Given the description of an element on the screen output the (x, y) to click on. 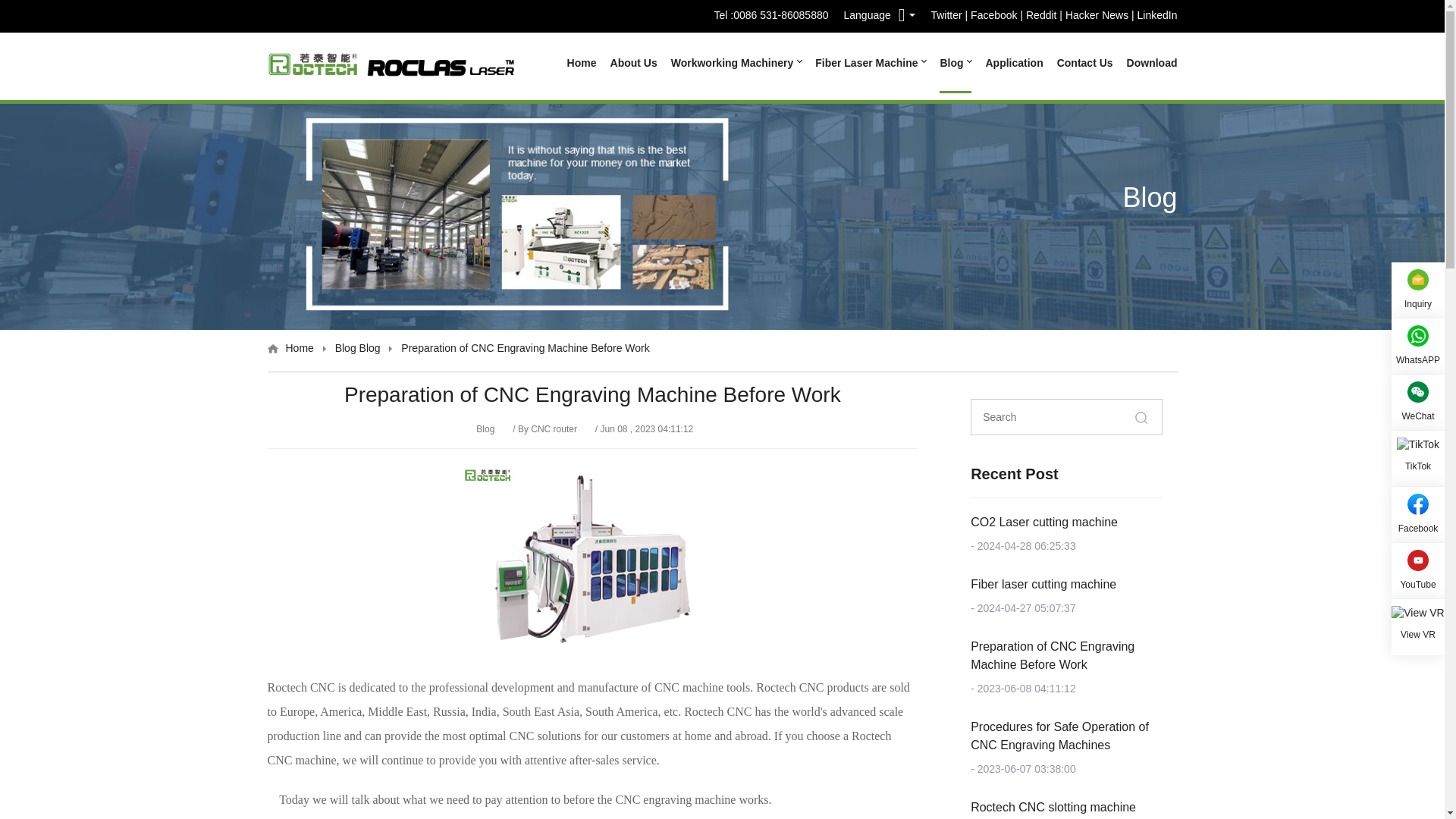
Facebook (993, 16)
Reddit (1041, 16)
Fiber Laser Machine (870, 62)
0086 531-86085880 (780, 15)
Hacker News (1096, 16)
Workworking Machinery (736, 62)
LinkedIn (1157, 16)
Twitter (945, 16)
